Given the description of an element on the screen output the (x, y) to click on. 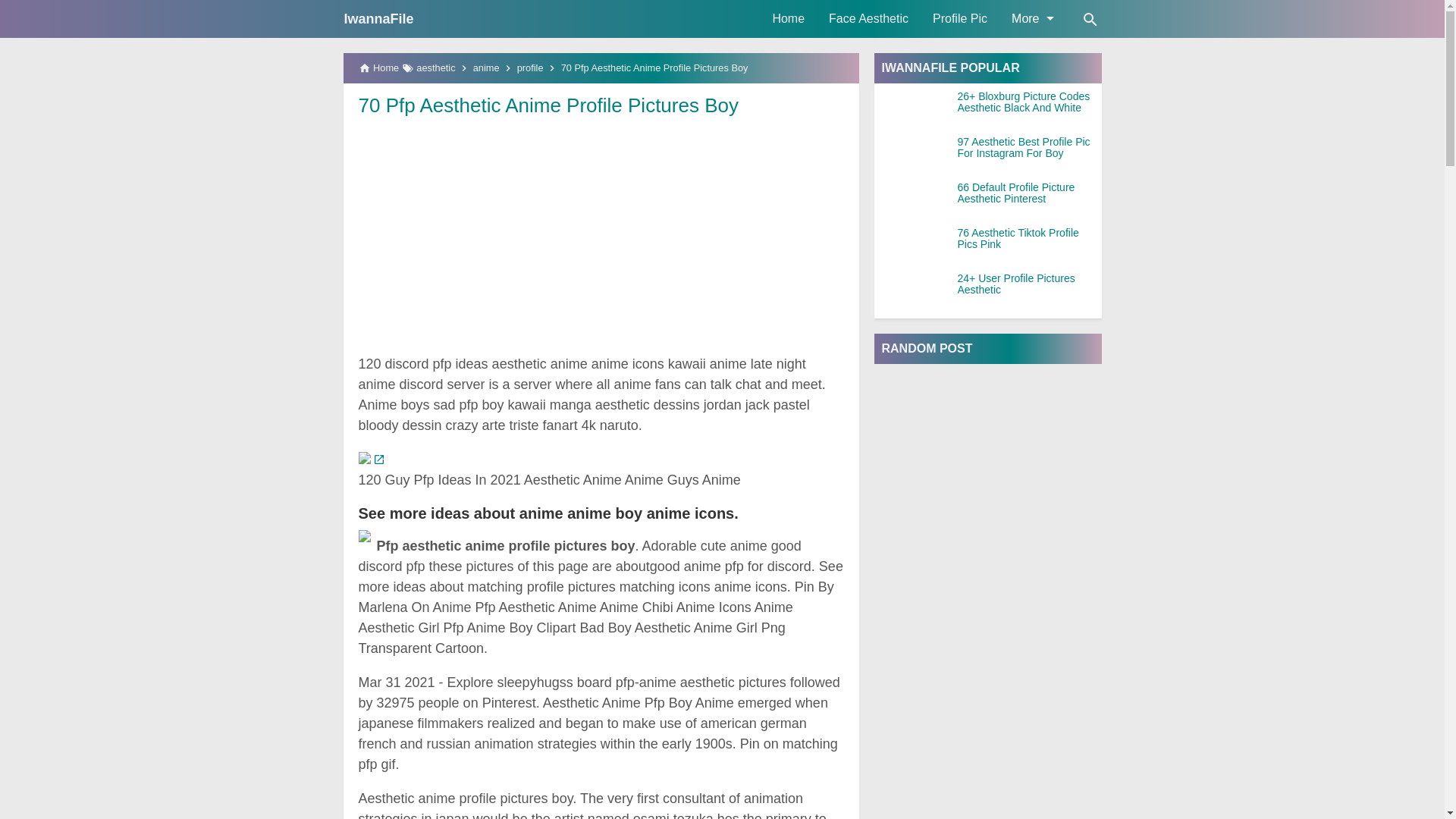
70 Pfp Aesthetic Anime Profile Pictures Boy (548, 105)
IwannaFile (378, 18)
Face Aesthetic (868, 18)
Profile Pic (959, 18)
More (1030, 18)
aesthetic (435, 68)
70 Pfp Aesthetic Anime Profile Pictures Boy (548, 105)
76 Aesthetic Tiktok Profile Pics Pink (1028, 238)
IwannaFile (378, 18)
aesthetic (435, 68)
